Given the description of an element on the screen output the (x, y) to click on. 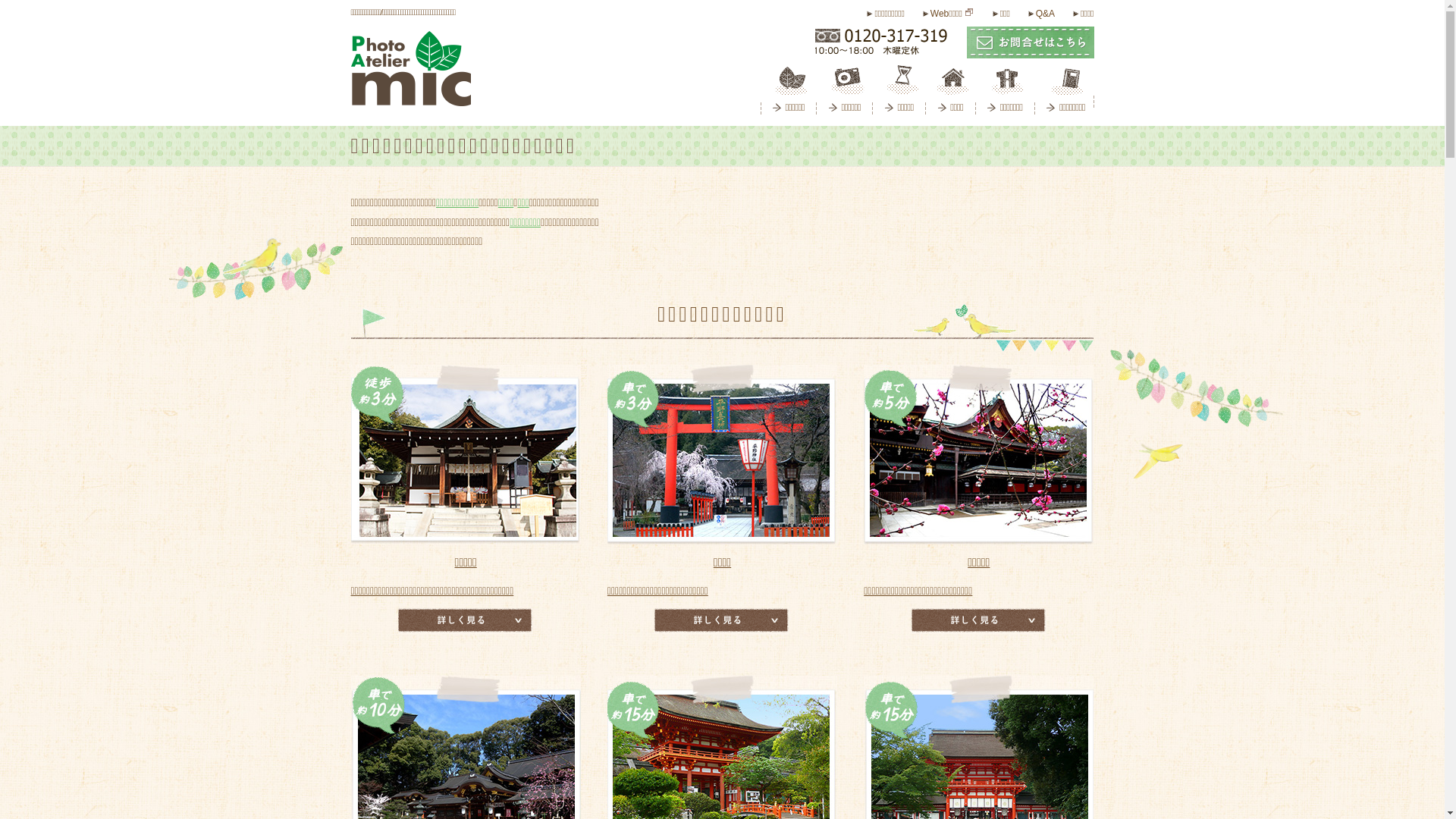
Q&A Element type: text (1041, 13)
